Given the description of an element on the screen output the (x, y) to click on. 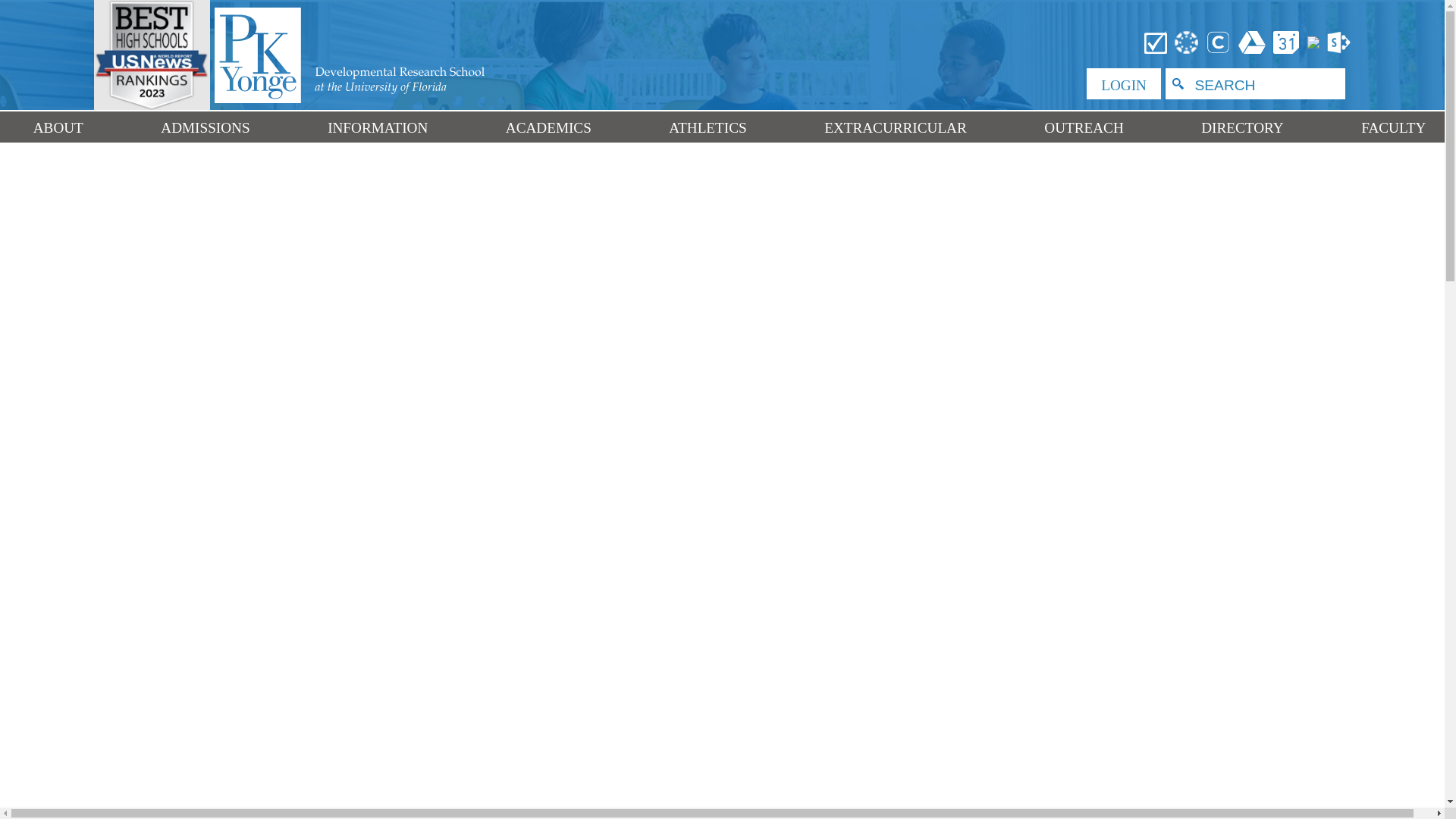
Sharepoint (1337, 40)
Skyward (1156, 40)
Canvas (1187, 40)
Calendar (1286, 40)
Clever (1218, 40)
Outlook Web App (1313, 40)
Google Drive (1251, 40)
LOGIN (1123, 83)
